Given the description of an element on the screen output the (x, y) to click on. 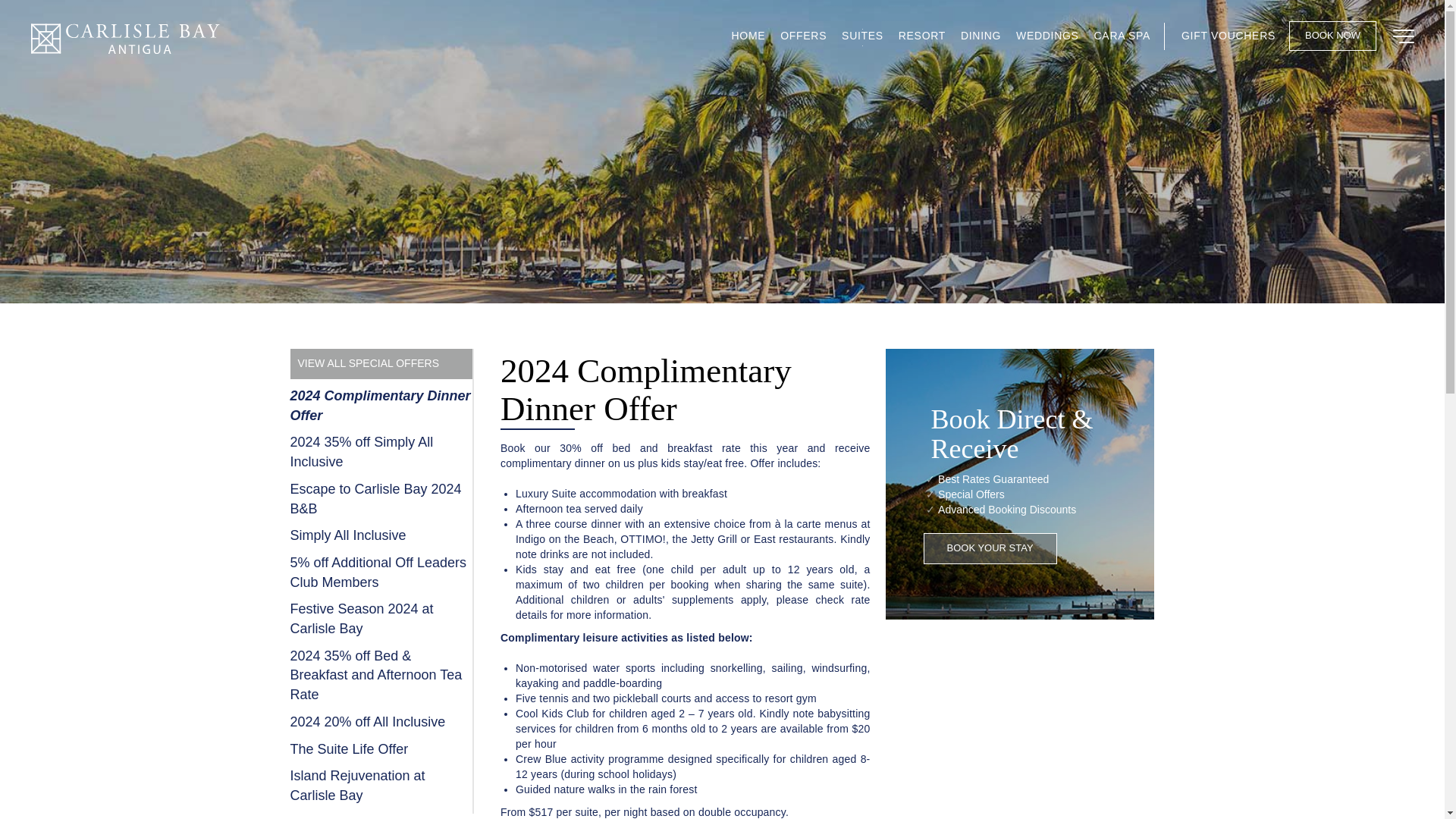
BOOK NOW (1331, 35)
